Given the description of an element on the screen output the (x, y) to click on. 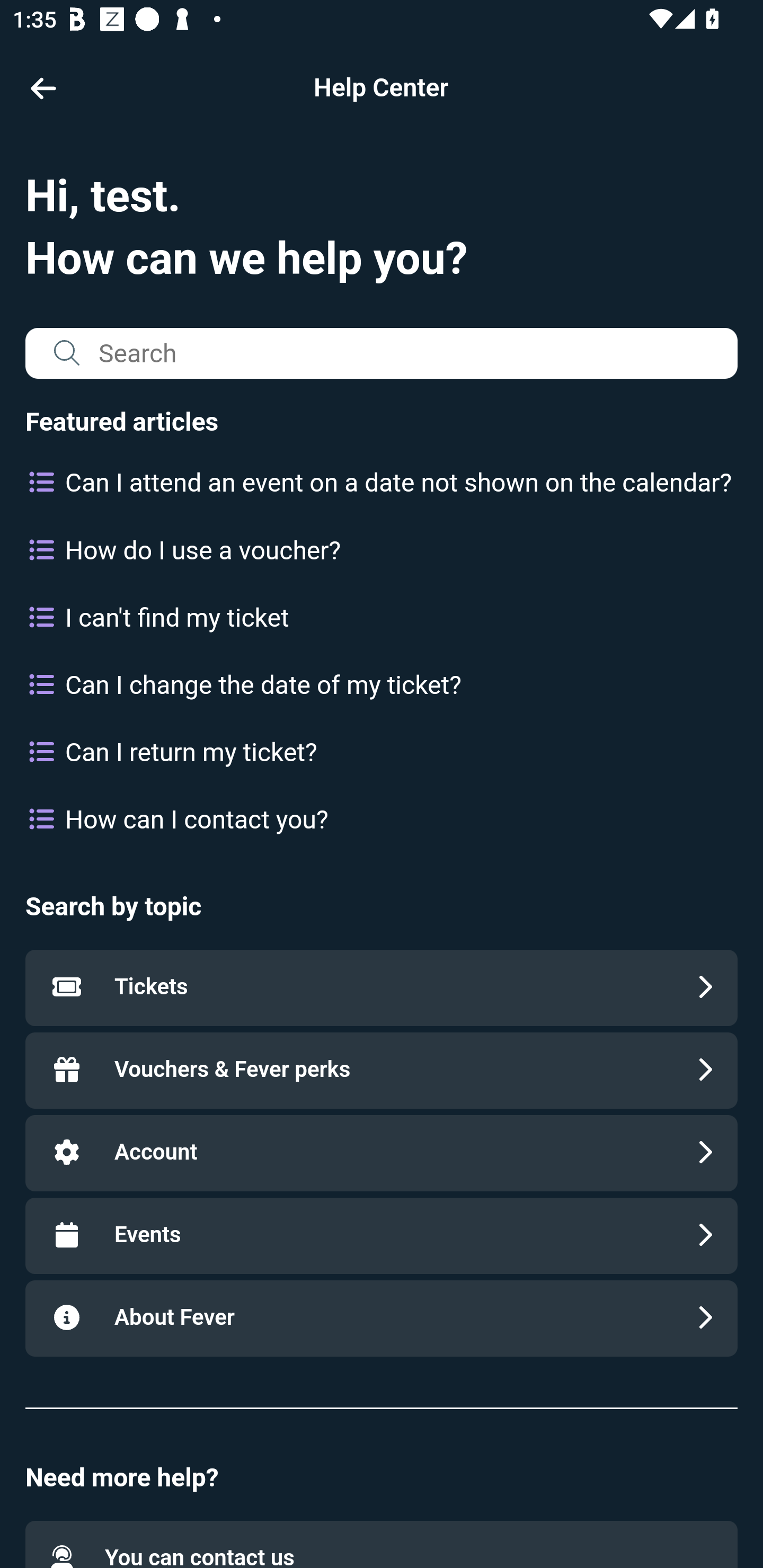
How do I use a voucher? (381, 551)
I can't find my ticket (381, 616)
Can I change the date of my ticket? (381, 685)
Can I return my ticket? (381, 752)
How can I contact you? (381, 819)
Tickets (381, 987)
Vouchers & Fever perks (381, 1069)
Account (381, 1152)
Events (381, 1235)
About Fever (381, 1318)
You can contact us (381, 1543)
